Given the description of an element on the screen output the (x, y) to click on. 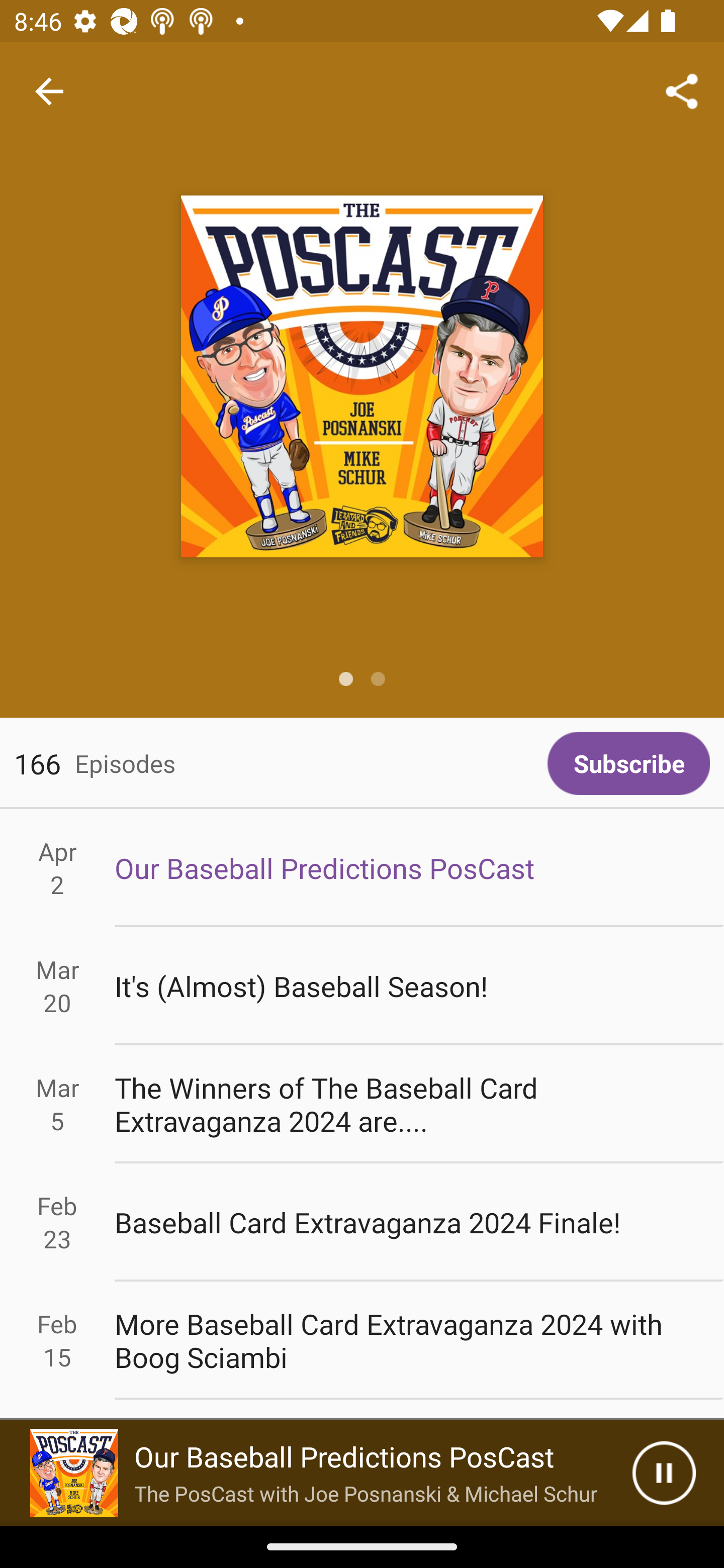
Navigate up (49, 91)
Share... (681, 90)
Subscribe (628, 763)
Apr 2 Our Baseball Predictions PosCast (362, 867)
Mar 20 It's (Almost) Baseball Season! (362, 985)
Feb 23 Baseball Card Extravaganza 2024 Finale! (362, 1222)
Pause (663, 1472)
